Given the description of an element on the screen output the (x, y) to click on. 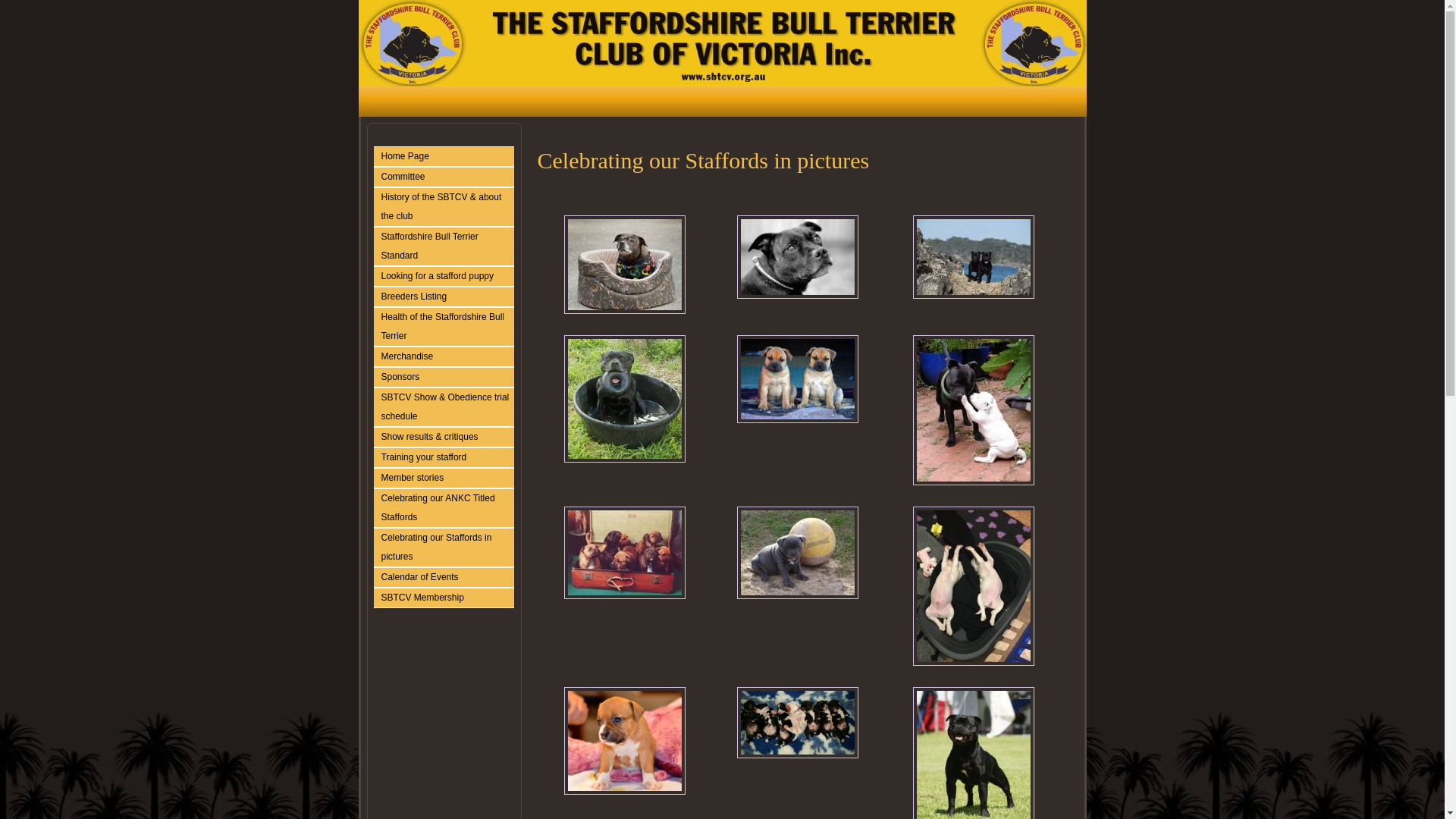
Home Page Element type: text (446, 156)
Click to enlarge Element type: hover (624, 552)
Staffordshire Bull Terrier Standard Element type: text (446, 246)
Click to enlarge Element type: hover (797, 552)
Click to enlarge Element type: hover (797, 379)
Looking for a stafford puppy Element type: text (446, 275)
Sponsors Element type: text (446, 376)
History of the SBTCV & about the club Element type: text (446, 206)
Committee Element type: text (446, 176)
Click to enlarge Element type: hover (797, 256)
Celebrating our ANKC Titled Staffords Element type: text (446, 508)
Click to enlarge Element type: hover (797, 722)
Health of the Staffordshire Bull Terrier Element type: text (446, 326)
Click to enlarge Element type: hover (973, 256)
Breeders Listing Element type: text (446, 296)
Click to enlarge Element type: hover (973, 410)
Click to enlarge Element type: hover (624, 398)
Merchandise Element type: text (446, 356)
Training your stafford Element type: text (446, 457)
Member stories Element type: text (446, 477)
Click to enlarge Element type: hover (973, 585)
Celebrating our Staffords in pictures Element type: text (446, 547)
Show results & critiques Element type: text (446, 436)
SBTCV Show & Obedience trial schedule Element type: text (446, 407)
SBTCV Membership Element type: text (446, 597)
Calendar of Events Element type: text (446, 576)
Click to enlarge Element type: hover (624, 264)
Click to enlarge Element type: hover (624, 740)
